Given the description of an element on the screen output the (x, y) to click on. 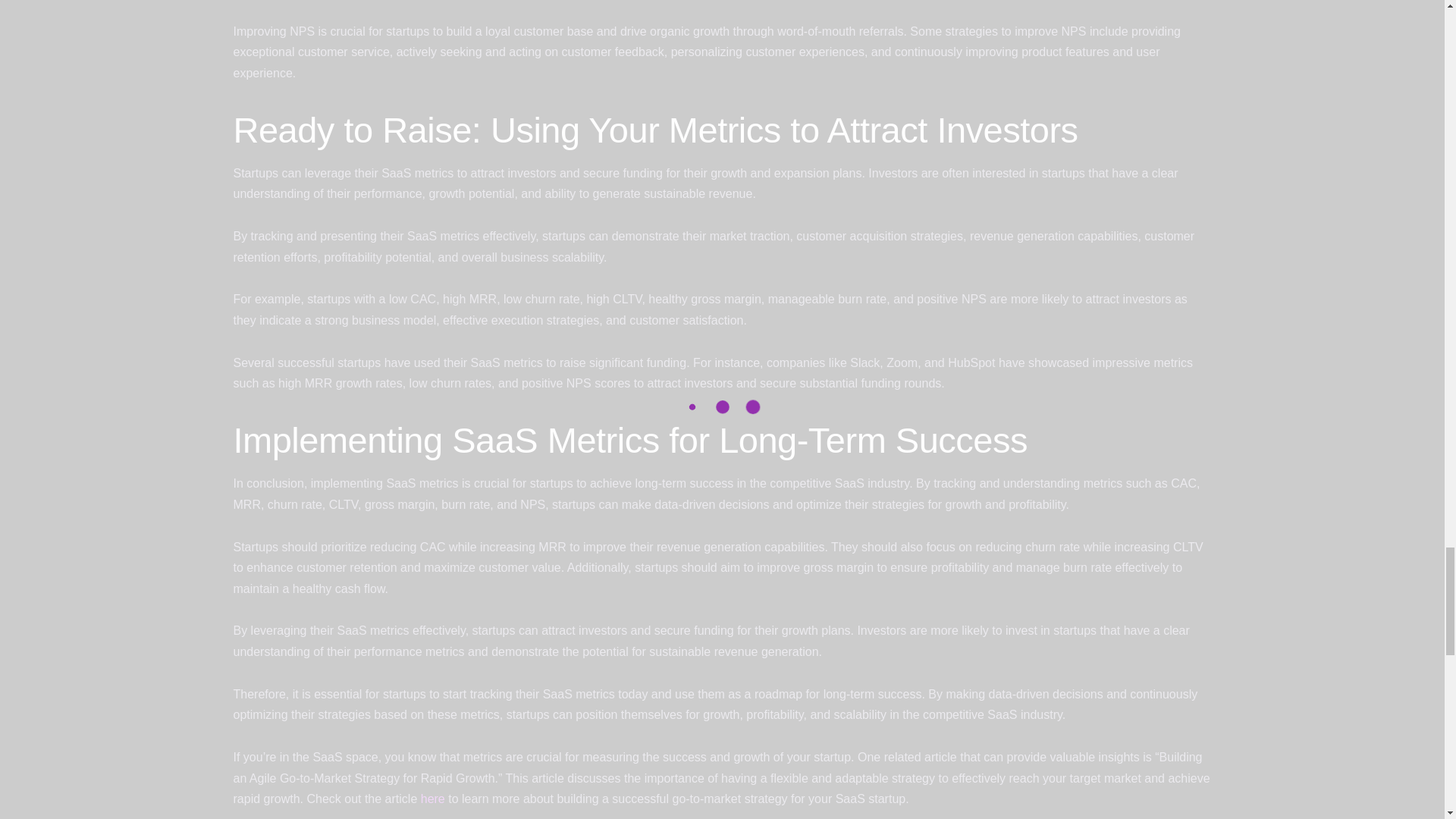
here (432, 798)
